Given the description of an element on the screen output the (x, y) to click on. 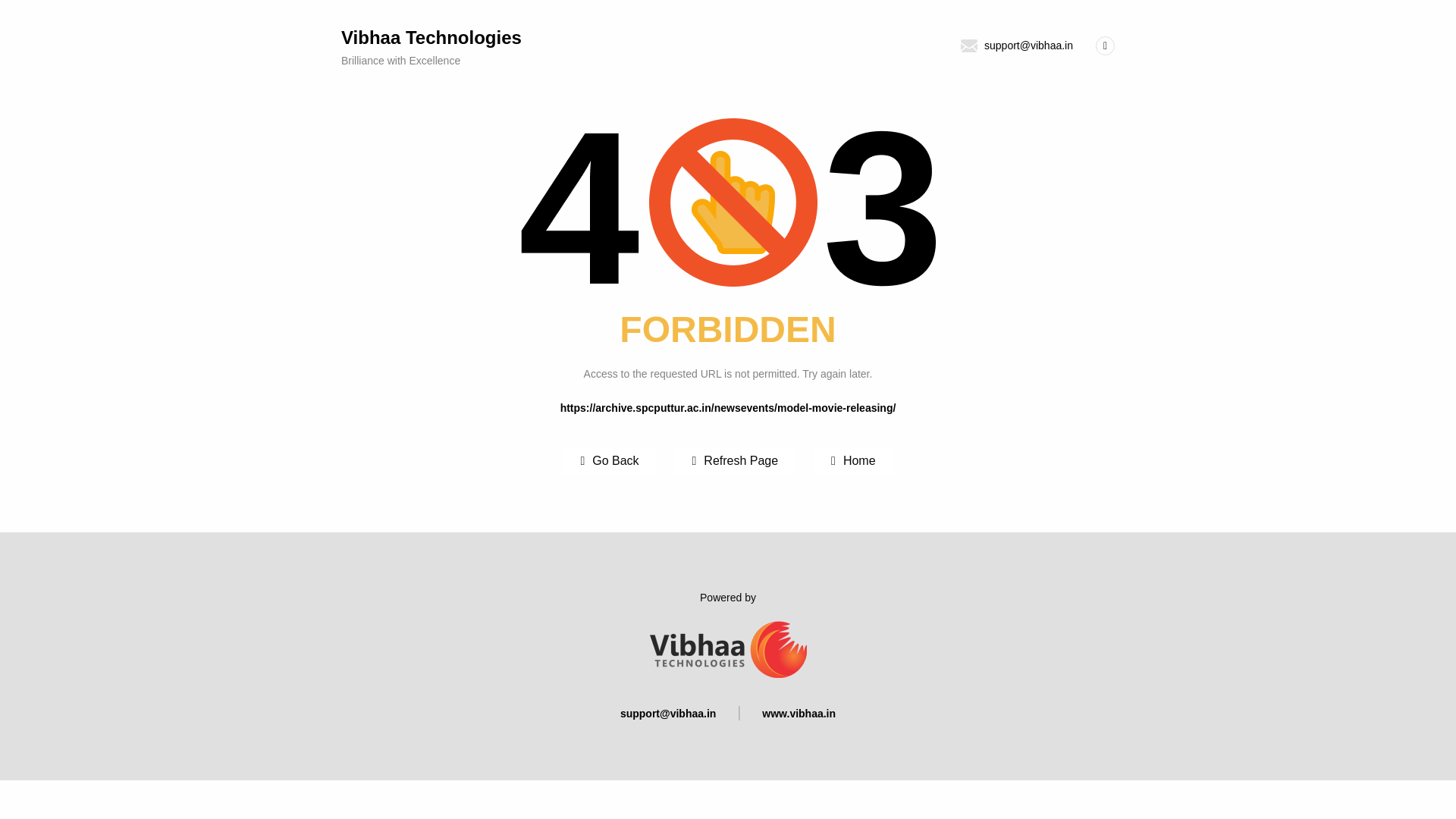
Home (853, 460)
Go Back (609, 460)
www.vibhaa.in (798, 713)
Refresh Page (528, 46)
